Given the description of an element on the screen output the (x, y) to click on. 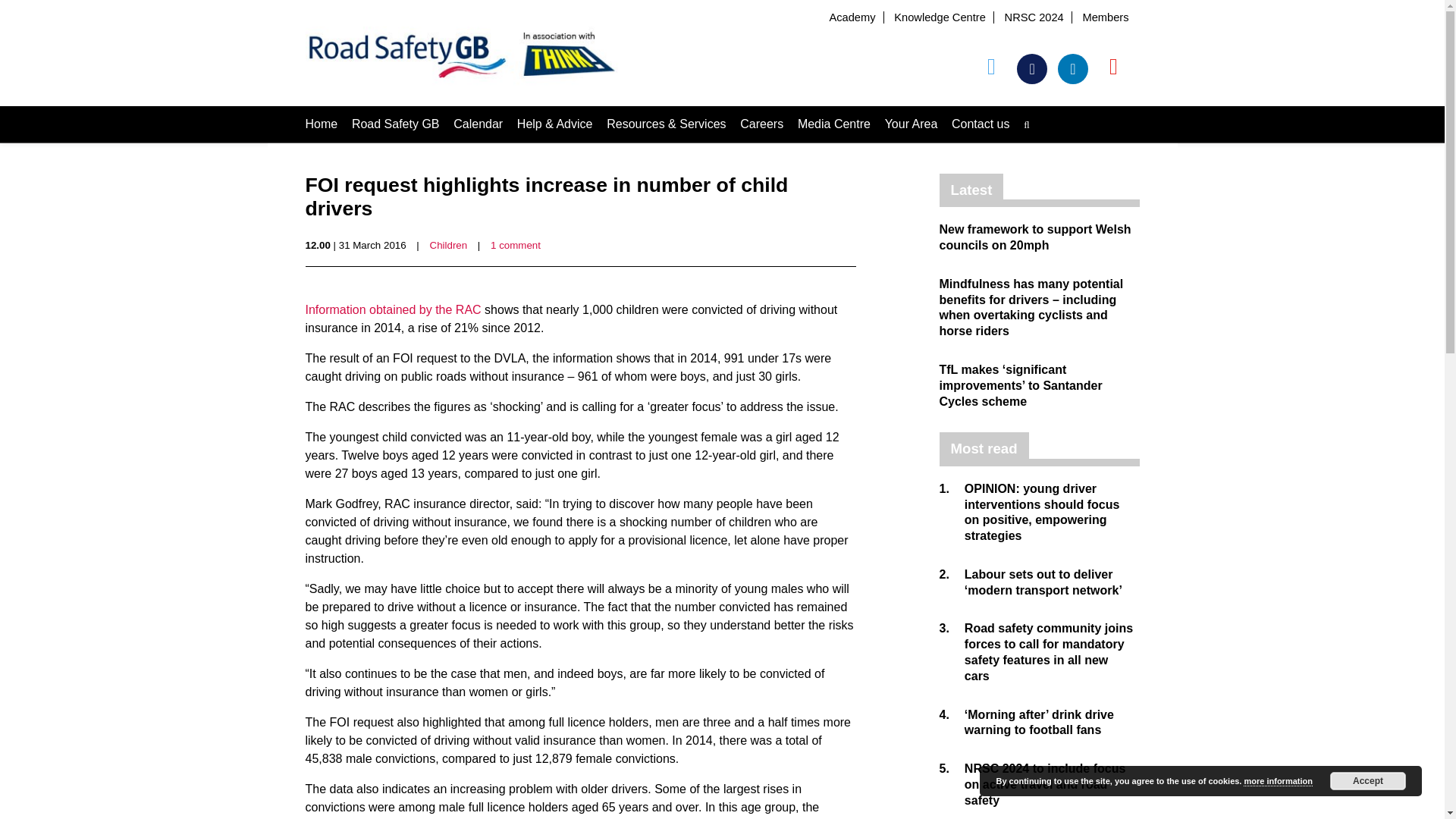
Academy (851, 17)
Careers (761, 123)
Road Safety GB (395, 123)
Members (1104, 17)
Home (320, 123)
Media Centre (833, 123)
New framework to support Welsh councils on 20mph (1035, 236)
NRSC 2024 (1034, 17)
Calendar (477, 123)
Knowledge Centre (939, 17)
Your Area (911, 123)
